Given the description of an element on the screen output the (x, y) to click on. 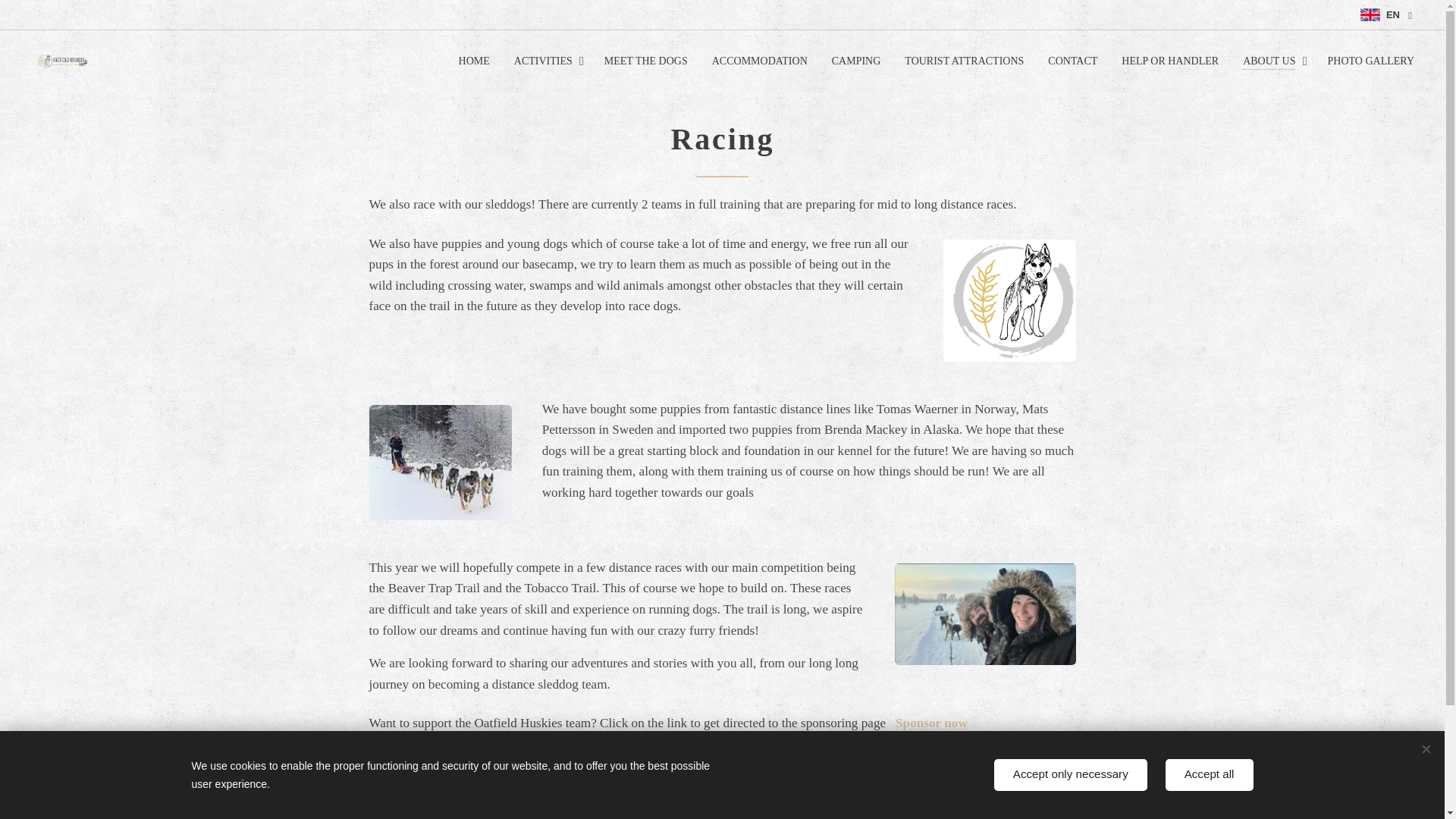
PHOTO GALLERY (1364, 61)
MEET THE DOGS (646, 61)
Sponsor now (931, 722)
ACTIVITIES (547, 61)
HELP OR HANDLER (1169, 61)
ACCOMMODATION (759, 61)
ABOUT US (1272, 61)
CAMPING (856, 61)
HOME (478, 61)
CONTACT (1072, 61)
